Given the description of an element on the screen output the (x, y) to click on. 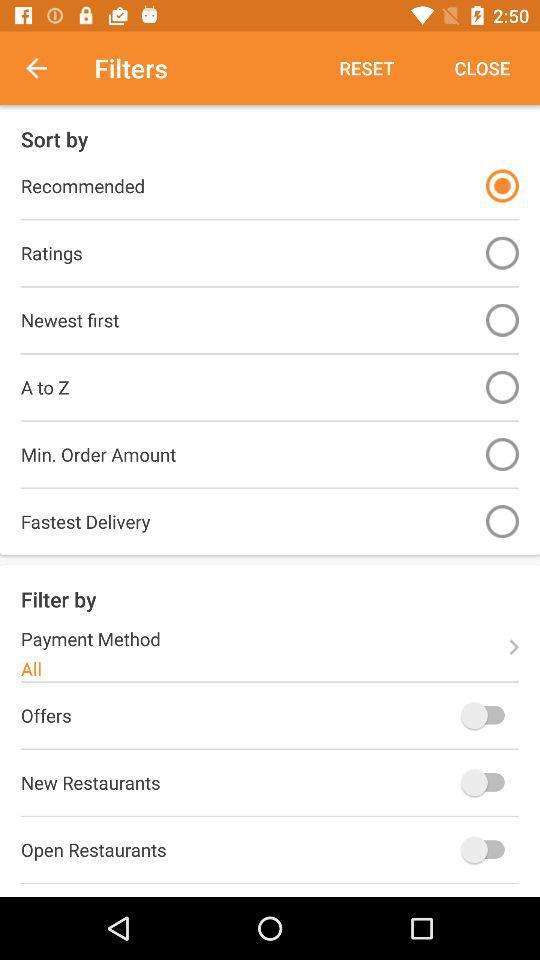
select item above the sort by item (47, 68)
